Given the description of an element on the screen output the (x, y) to click on. 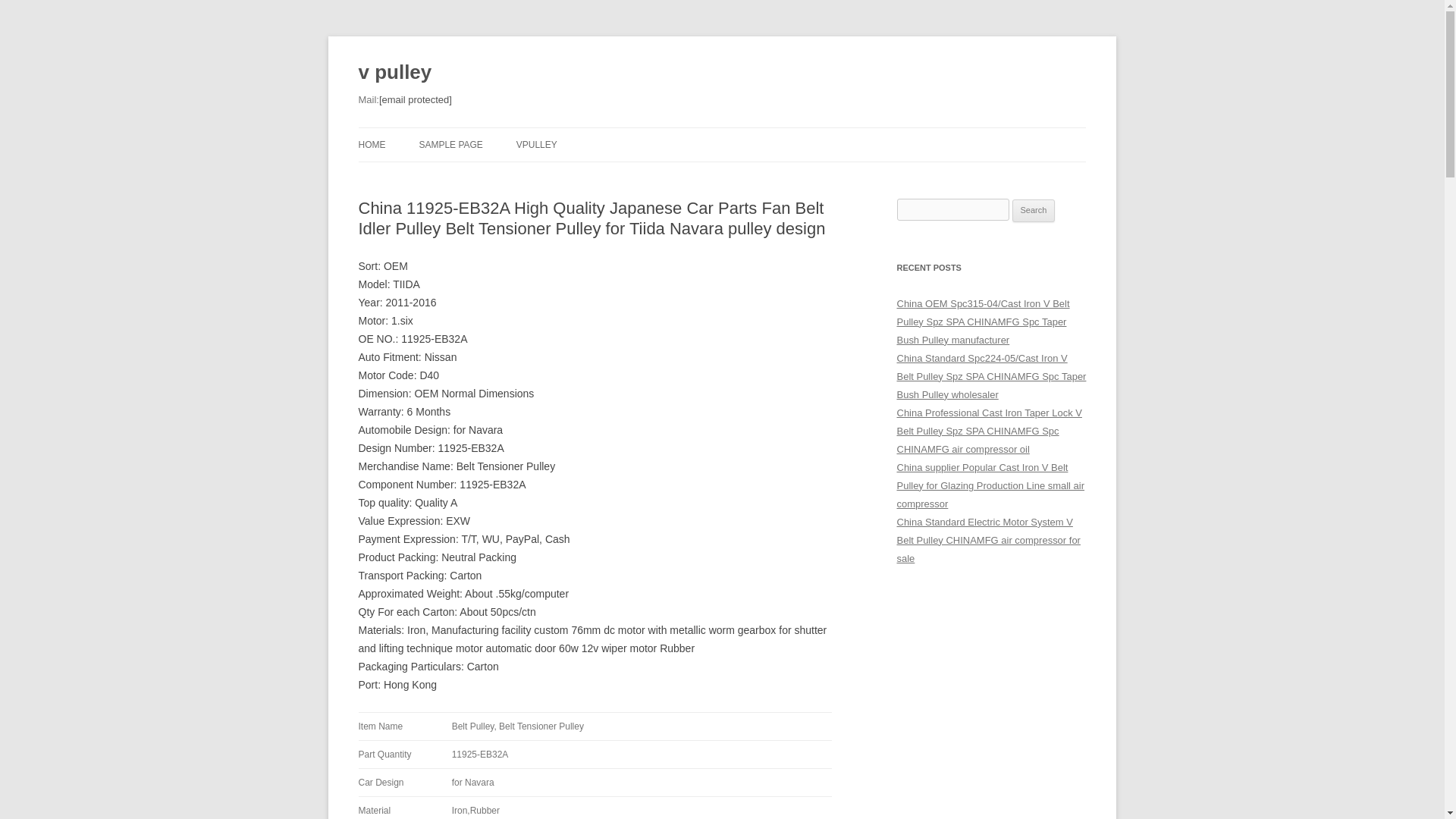
SAMPLE PAGE (450, 144)
v pulley (394, 72)
Search (1033, 210)
v pulley (394, 72)
VPULLEY (536, 144)
Search (1033, 210)
